Given the description of an element on the screen output the (x, y) to click on. 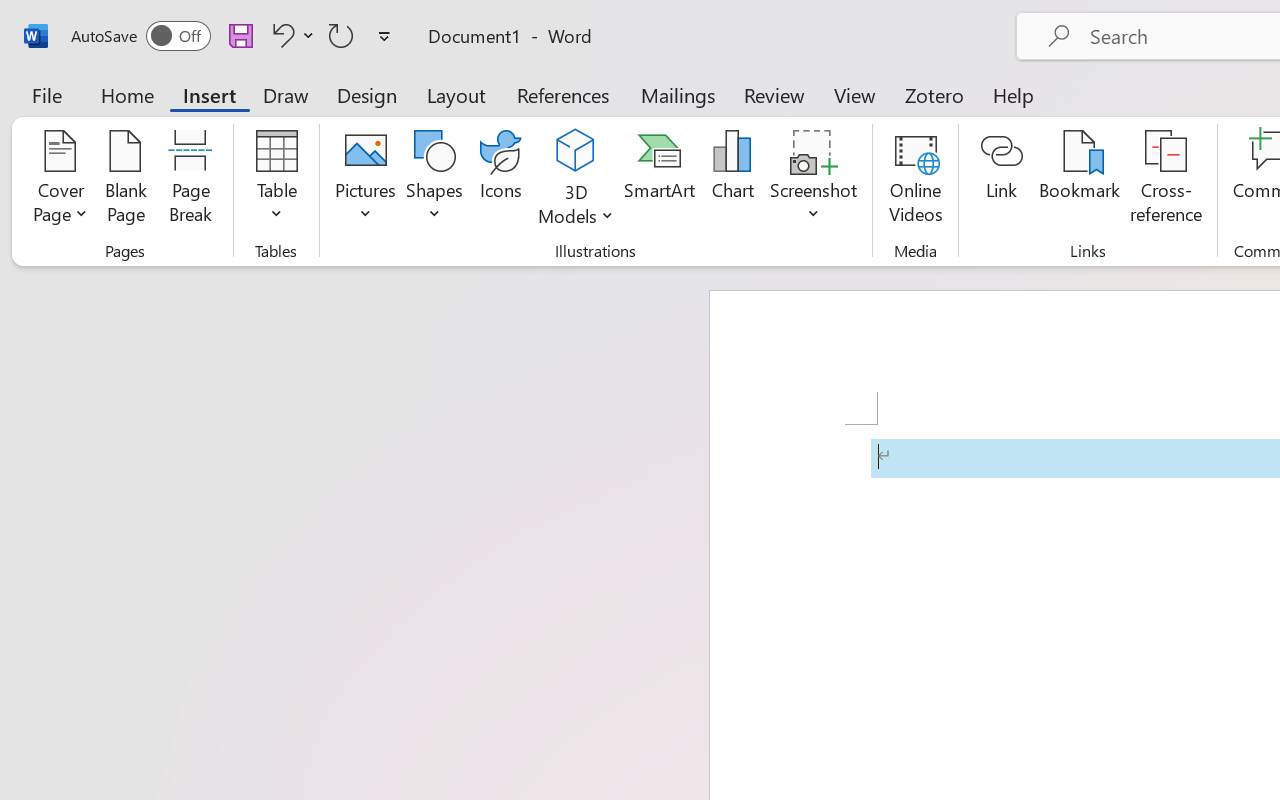
Cross-reference... (1165, 179)
Shapes (435, 179)
Screenshot (813, 179)
Link (1001, 179)
Chart... (732, 179)
Pictures (365, 179)
